Given the description of an element on the screen output the (x, y) to click on. 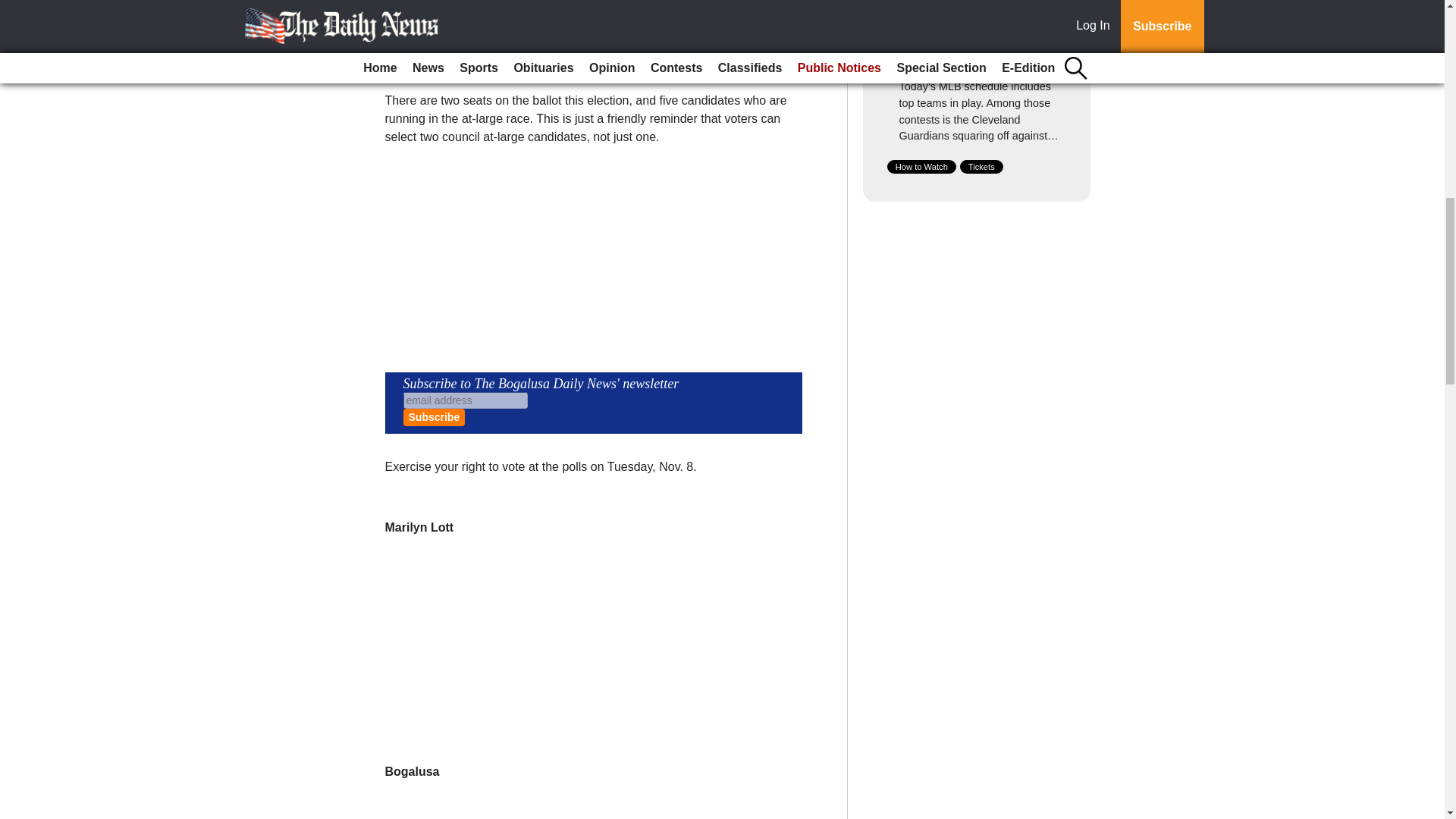
How to Watch (921, 166)
Subscribe (434, 416)
Subscribe (434, 416)
Tickets (981, 166)
